Given the description of an element on the screen output the (x, y) to click on. 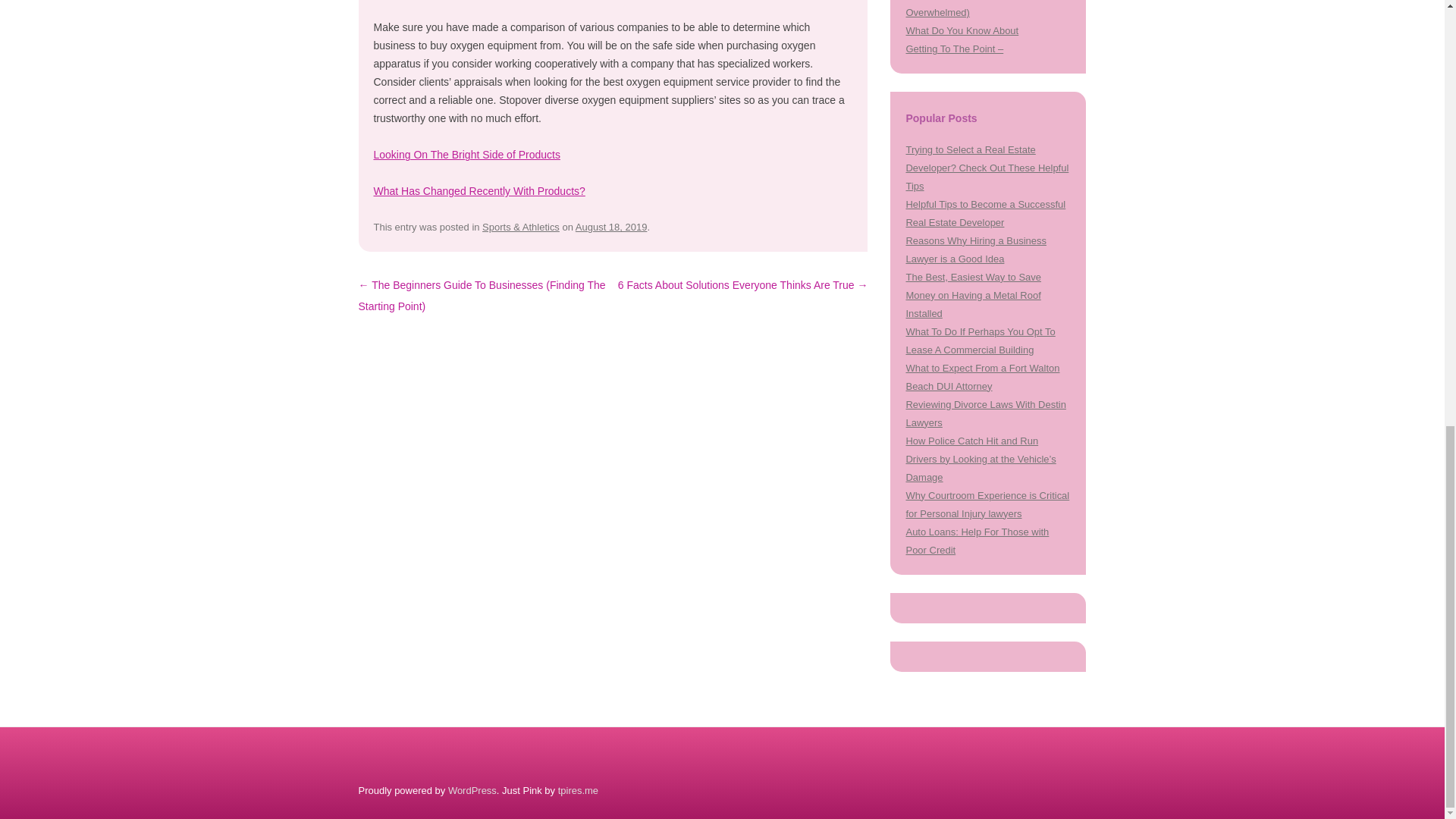
What To Do If Perhaps You Opt To Lease A Commercial Building (979, 340)
Semantic Personal Publishing Platform (472, 790)
Reasons Why Hiring a Business Lawyer is a Good Idea (975, 249)
Reviewing Divorce Laws With Destin Lawyers (985, 413)
12:31 pm (611, 226)
What Has Changed Recently With Products? (478, 191)
Auto Loans: Help For Those with Poor Credit (976, 541)
Helpful Tips to Become a Successful Real Estate Developer (985, 213)
What to Expect From a Fort Walton Beach DUI Attorney (982, 377)
Looking On The Bright Side of Products (465, 154)
August 18, 2019 (611, 226)
